Given the description of an element on the screen output the (x, y) to click on. 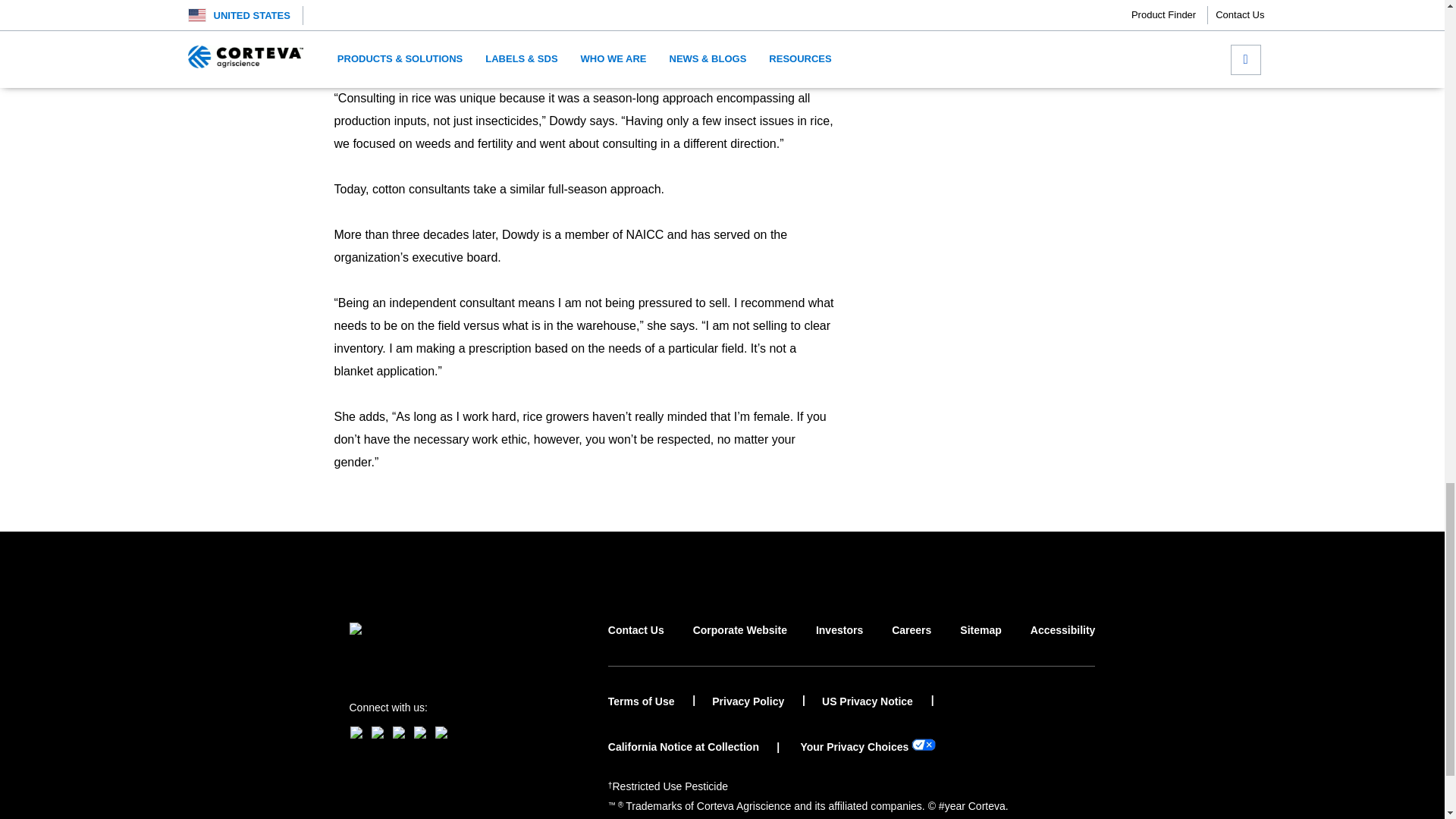
Privacy Policy (758, 701)
Contact Us (635, 643)
Accessibility (1063, 643)
Careers (911, 643)
Legals (669, 786)
Investors (839, 643)
Corporate Website (740, 643)
Sitemap (980, 643)
Terms of Use (651, 701)
US Privacy Notice (878, 701)
